Given the description of an element on the screen output the (x, y) to click on. 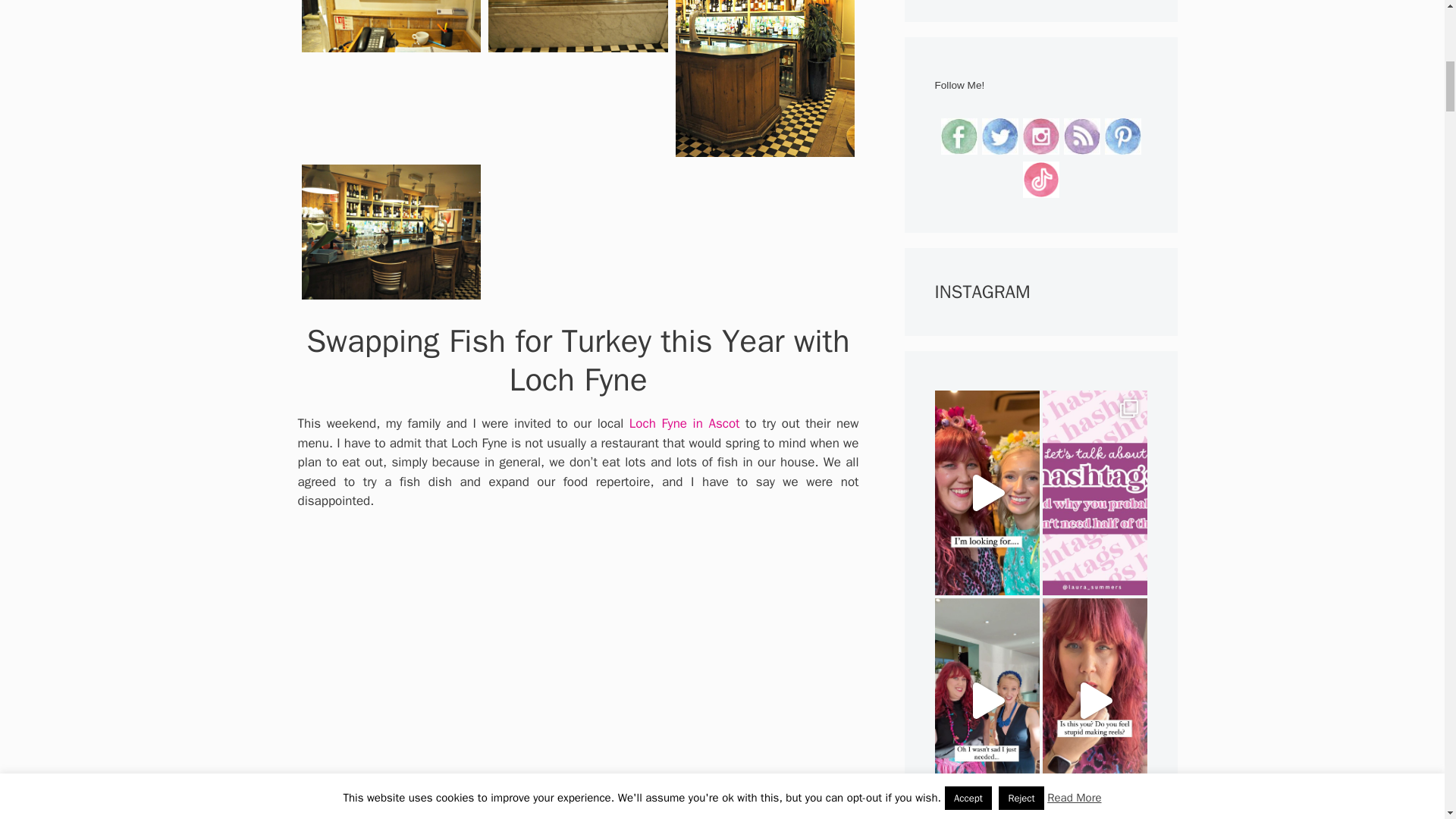
Loch Fyne in Ascot (683, 423)
